Given the description of an element on the screen output the (x, y) to click on. 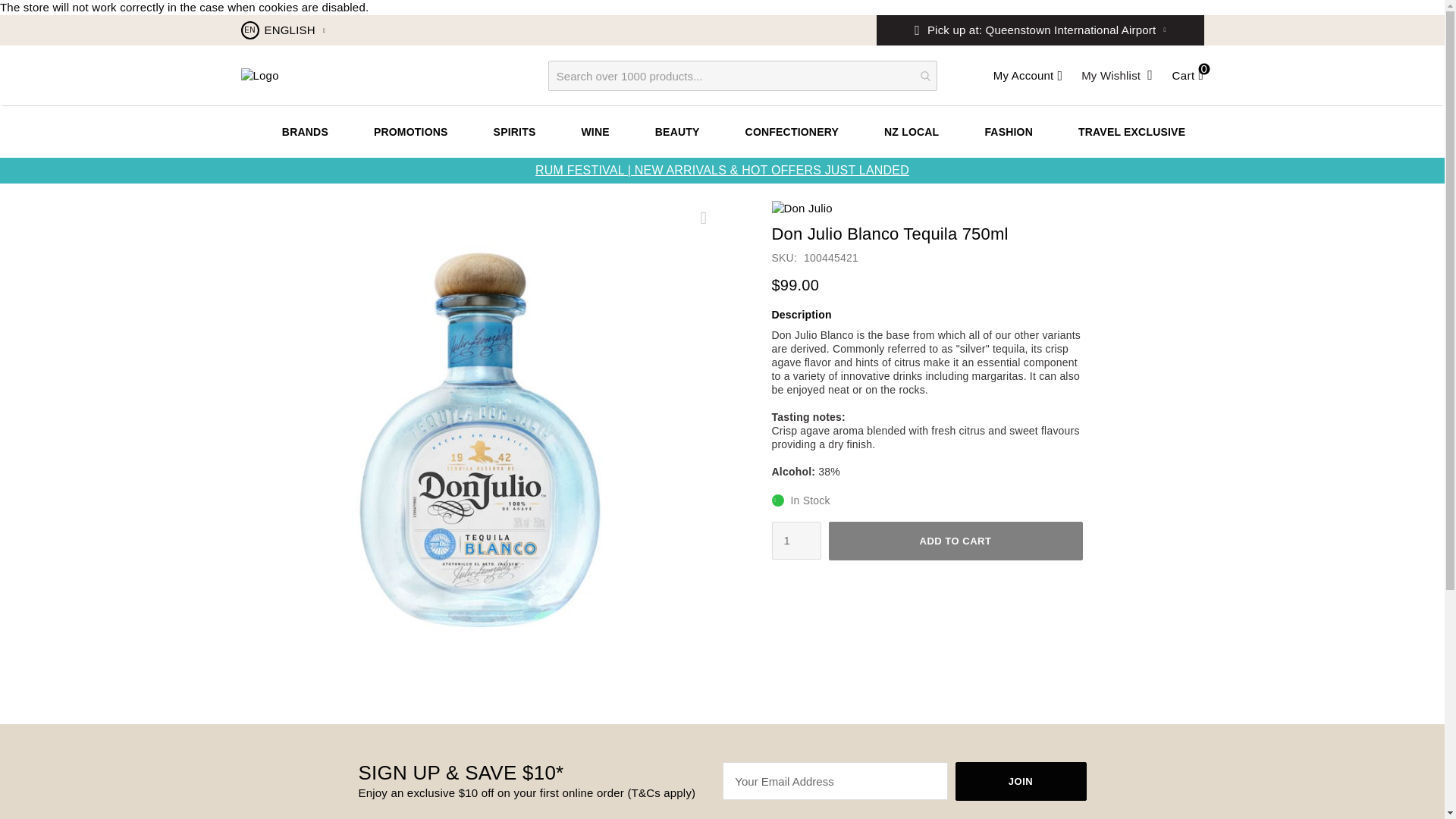
Chinese (282, 60)
PROMOTIONS (410, 132)
1 (796, 540)
BRANDS (304, 132)
Logo (260, 75)
Auckland International Airport (1040, 60)
My Account (1027, 75)
